Given the description of an element on the screen output the (x, y) to click on. 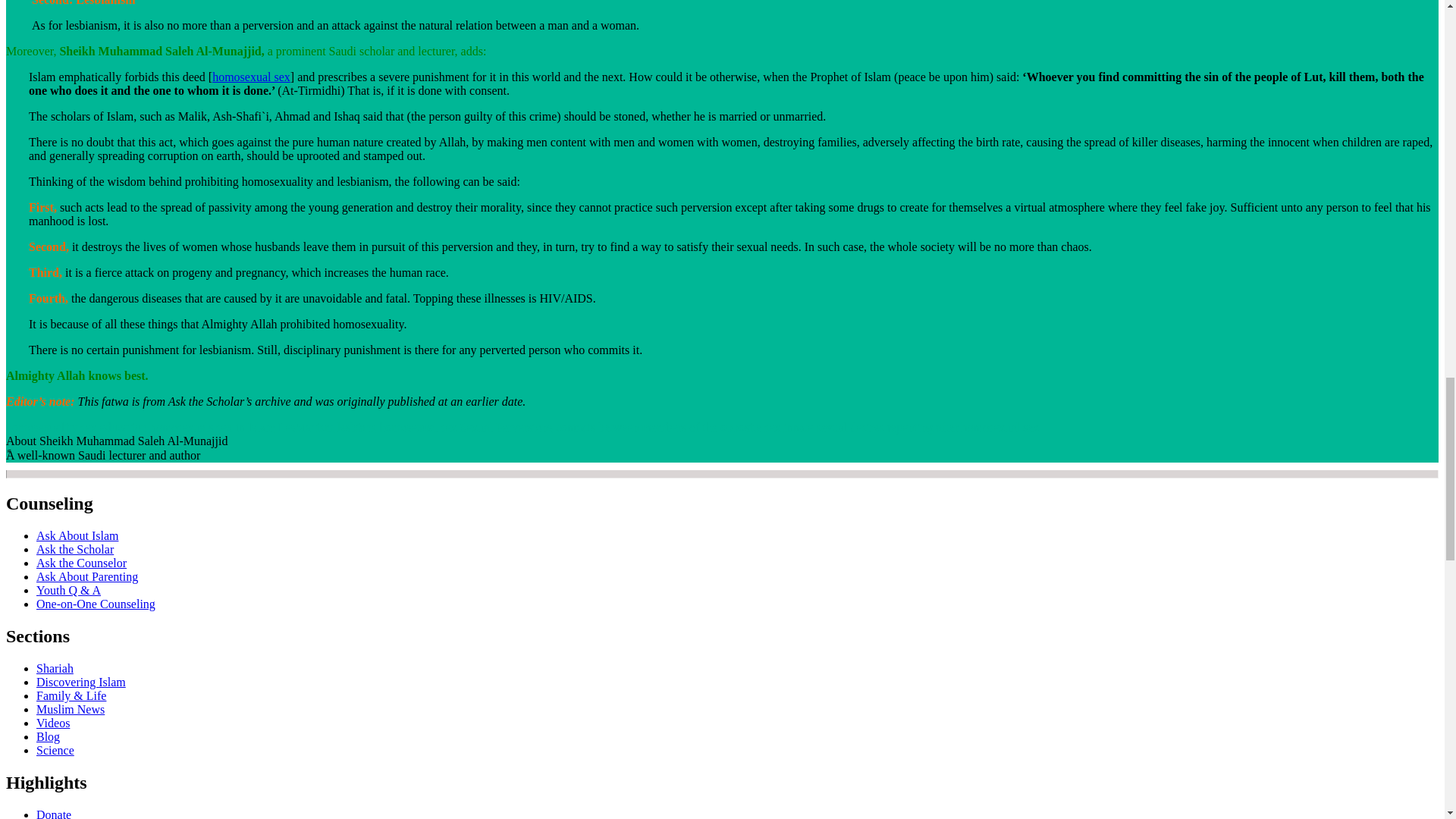
contacts between members of the opposite sex Tag (668, 427)
sex in Islam Tag (245, 427)
homosexuals Tag (181, 427)
sex in Islam (245, 427)
sex education (113, 427)
repenting after homosexual sex Tag (962, 427)
homosexuality Tag (41, 427)
homosexuality (41, 427)
homosexual sex (250, 76)
innate sexual desires Tag (833, 427)
Lesbianism (306, 427)
Lesbianism Tag (306, 427)
Sexual Perversions Tag (506, 427)
sex education Tag (113, 427)
homosexuals (181, 427)
